Given the description of an element on the screen output the (x, y) to click on. 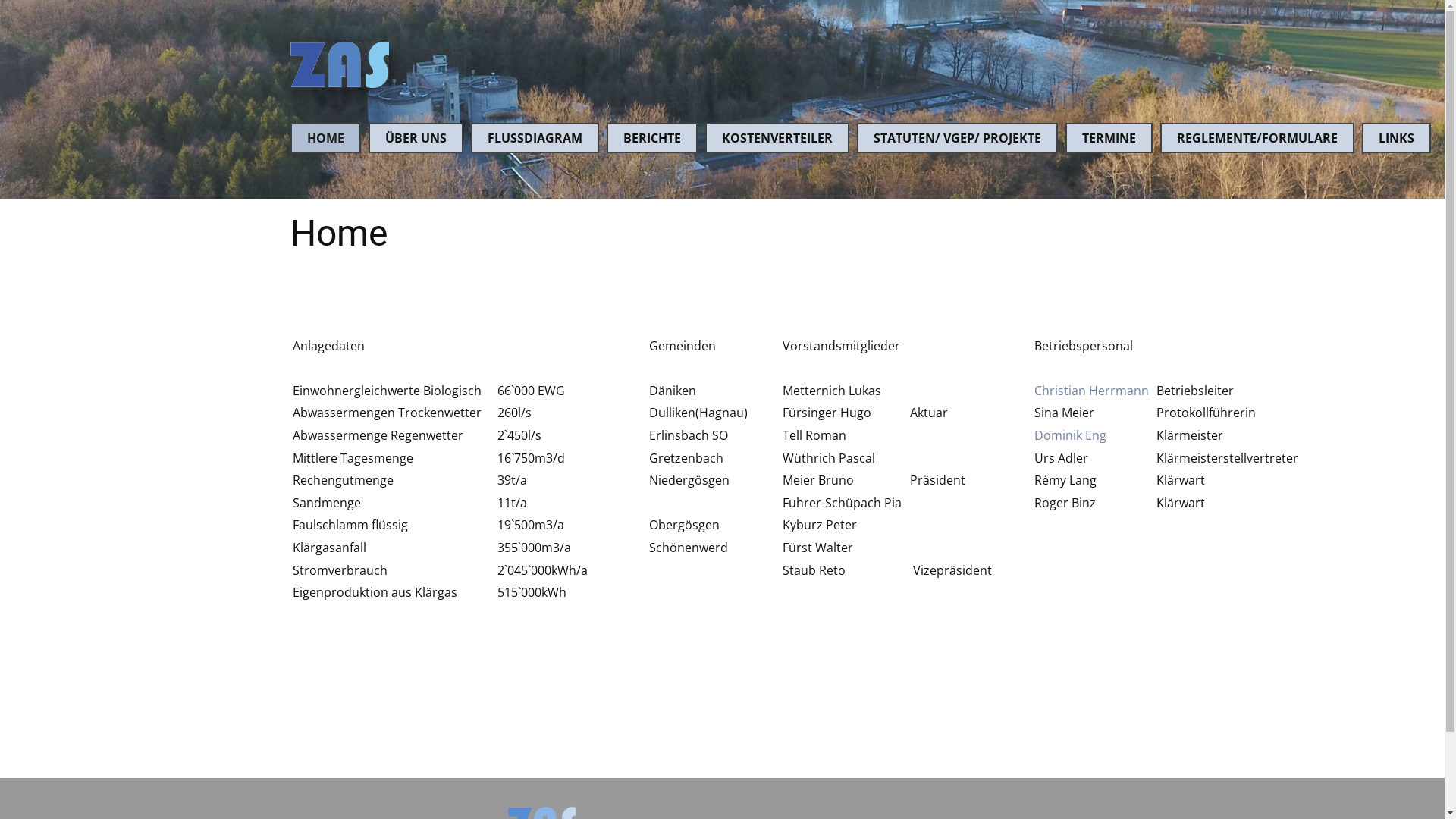
HOME Element type: text (324, 137)
LINKS Element type: text (1395, 137)
BERICHTE Element type: text (651, 137)
FLUSSDIAGRAM Element type: text (534, 137)
Dominik Eng Element type: text (1070, 434)
KOSTENVERTEILER Element type: text (777, 137)
Christian Herrmann Element type: text (1091, 390)
STATUTEN/ VGEP/ PROJEKTE Element type: text (956, 137)
REGLEMENTE/FORMULARE Element type: text (1257, 137)
TERMINE Element type: text (1107, 137)
